Given the description of an element on the screen output the (x, y) to click on. 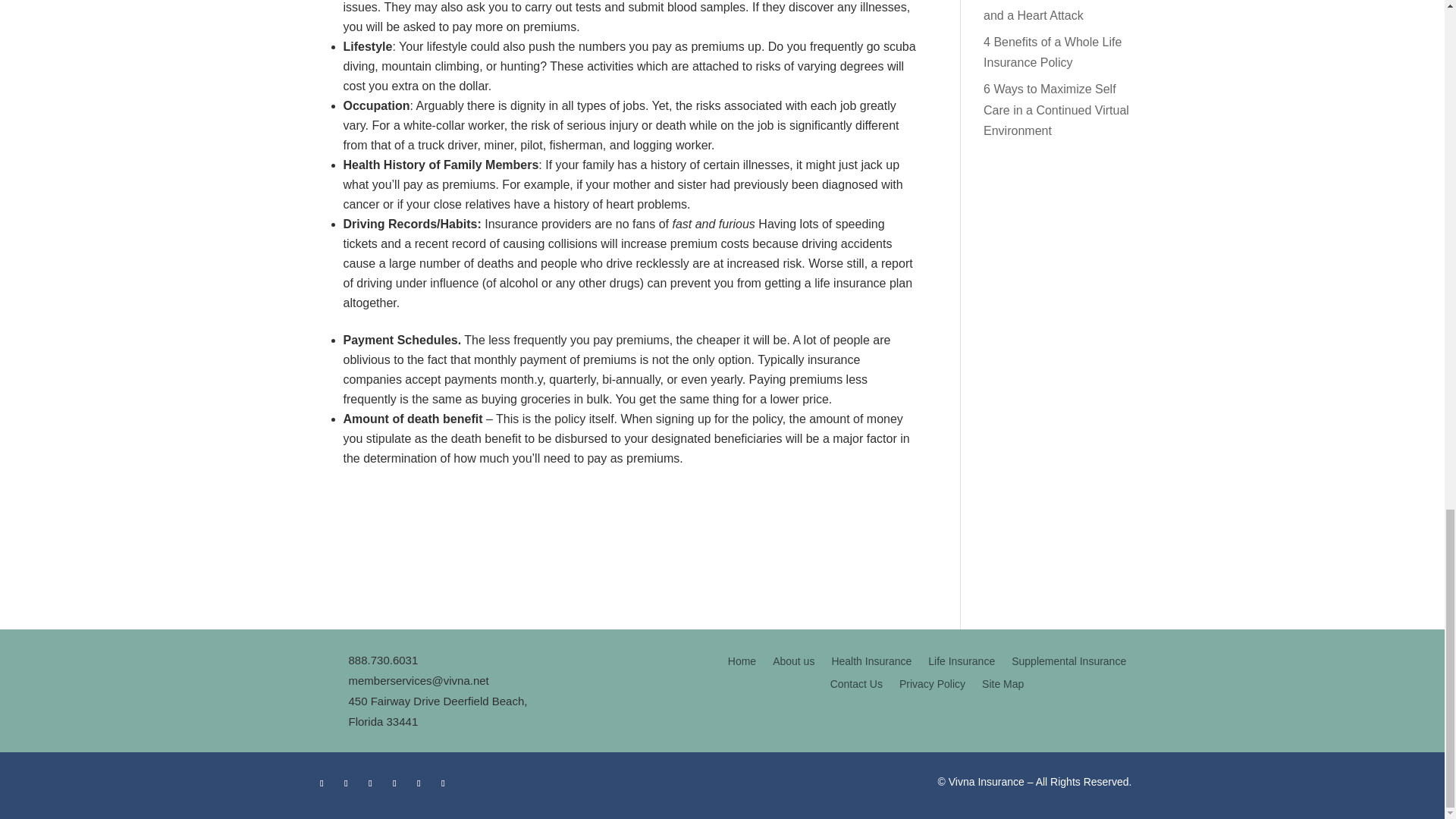
Follow on Youtube (369, 782)
Follow on Pinterest (442, 782)
Follow on Facebook (321, 782)
Follow on LinkedIn (418, 782)
Follow on Instagram (394, 782)
Follow on X (345, 782)
